Given the description of an element on the screen output the (x, y) to click on. 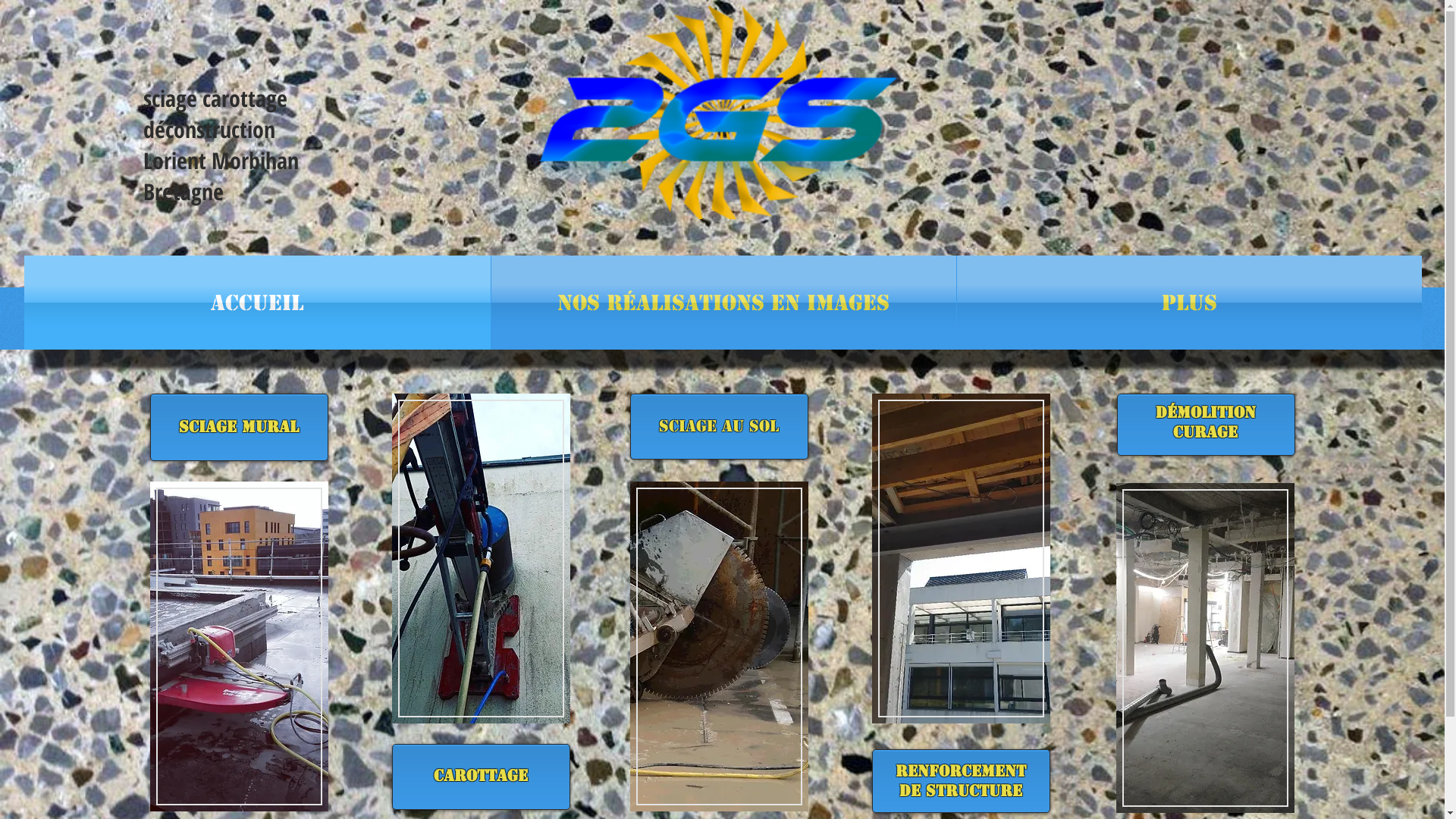
016.jpg Element type: hover (718, 646)
2015-11-10-1828.jpg Element type: hover (480, 558)
Accueil Element type: text (257, 302)
logo 2gs.png Element type: hover (718, 112)
014.jpg Element type: hover (1205, 647)
014.jpg Element type: hover (961, 558)
015.jpg Element type: hover (239, 646)
